Given the description of an element on the screen output the (x, y) to click on. 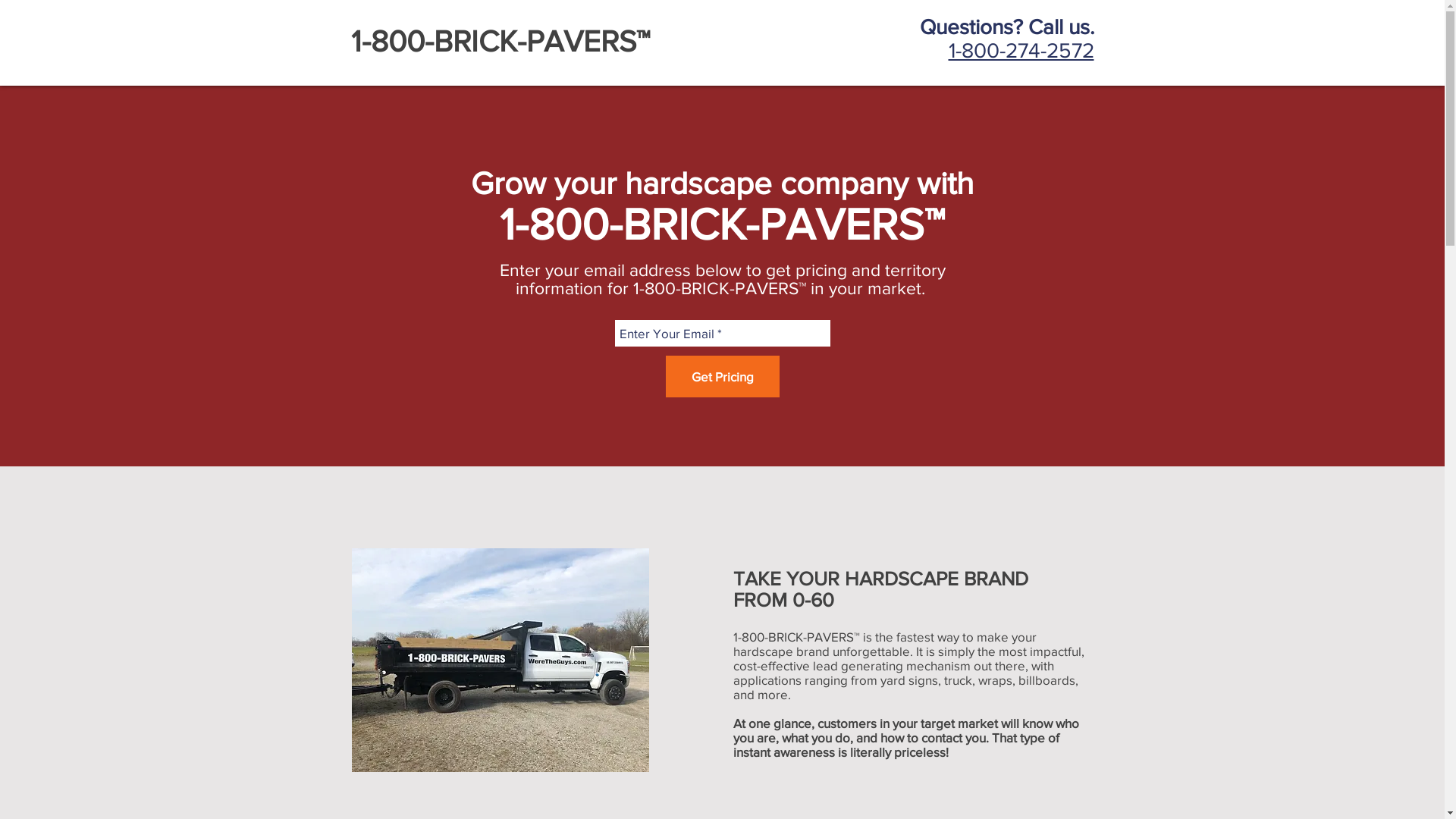
1-800-274-2572 Element type: text (1020, 50)
Get Pricing Element type: text (722, 376)
